Given the description of an element on the screen output the (x, y) to click on. 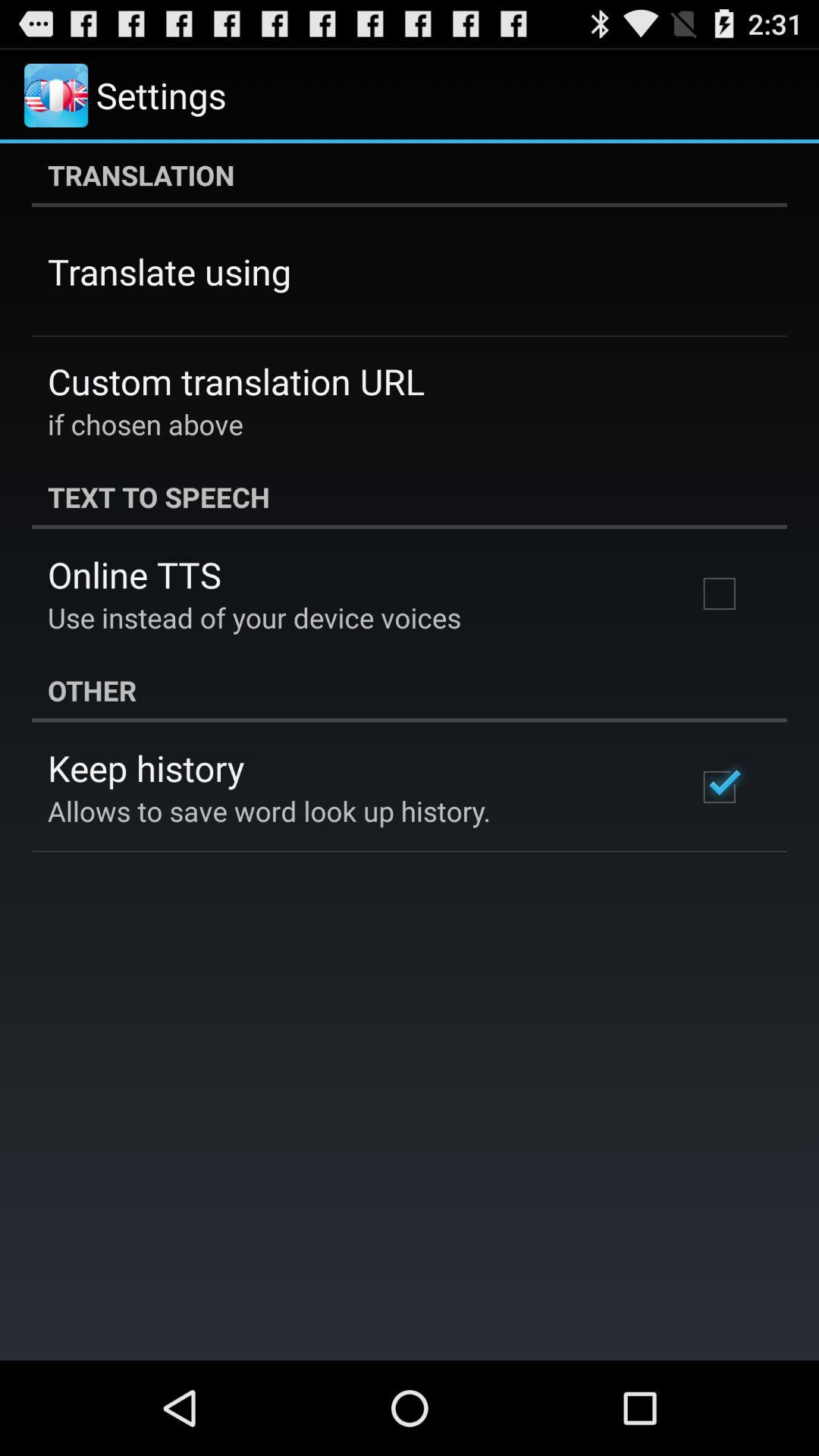
swipe to the translate using item (169, 271)
